Given the description of an element on the screen output the (x, y) to click on. 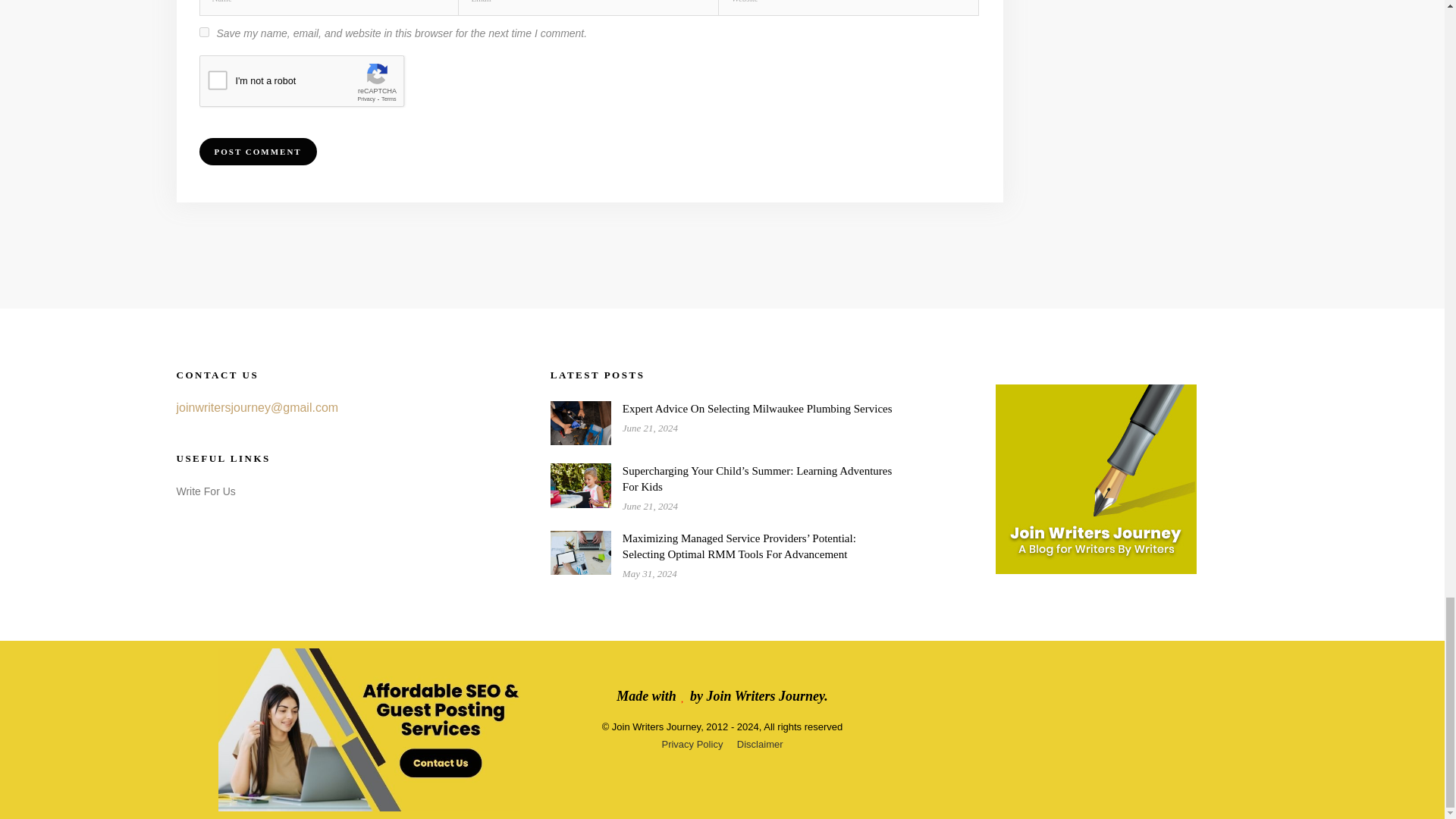
reCAPTCHA (313, 84)
Post Comment (256, 151)
yes (203, 31)
